Given the description of an element on the screen output the (x, y) to click on. 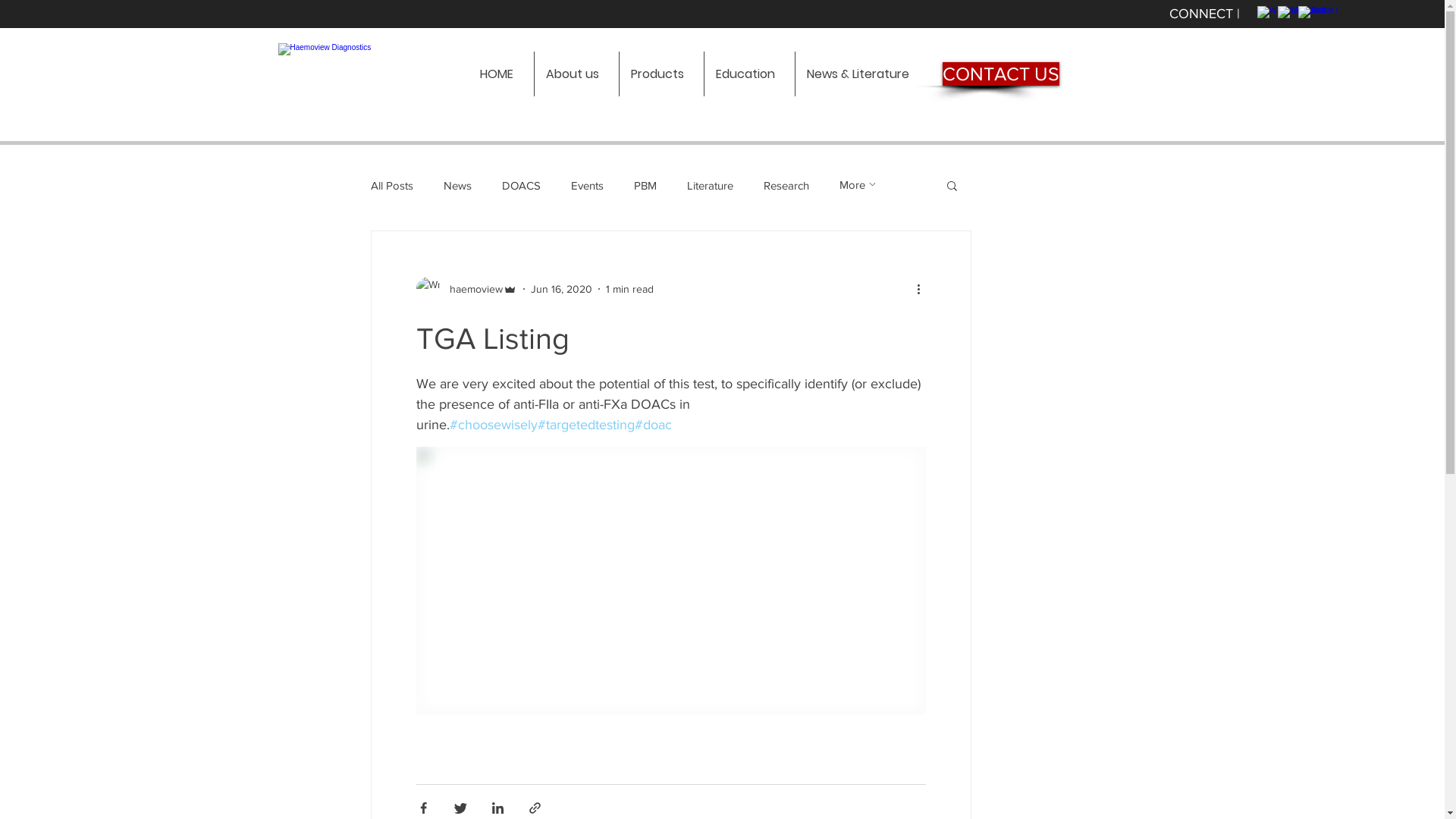
#targetedtesting Element type: text (584, 424)
PBM Element type: text (644, 184)
Events Element type: text (586, 184)
haemoview Element type: text (465, 288)
All Posts Element type: text (391, 184)
Research Element type: text (785, 184)
News Element type: text (456, 184)
DOACS Element type: text (521, 184)
#choosewisely Element type: text (492, 424)
Literature Element type: text (710, 184)
HOME Element type: text (500, 73)
About us Element type: text (575, 73)
CONTACT US Element type: text (999, 73)
#doac Element type: text (652, 424)
News & Literature Element type: text (861, 73)
HVD Logo 2019 Element type: hover (367, 73)
